Given the description of an element on the screen output the (x, y) to click on. 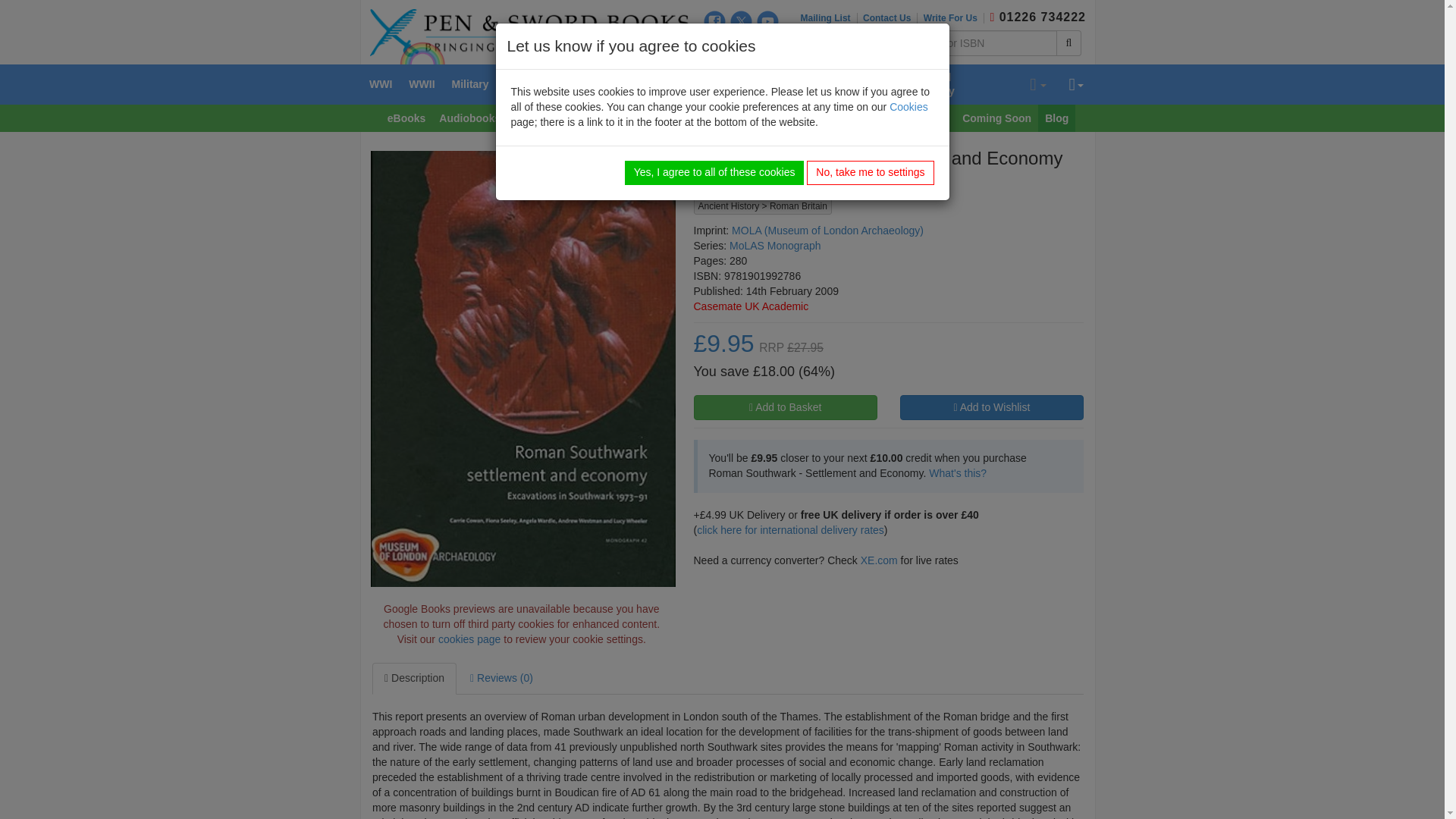
Your basket is empty (1037, 84)
Contact Us (890, 18)
Instagram (714, 45)
NetGalley (767, 45)
Write For Us (953, 18)
X (741, 21)
Pinterest (741, 45)
Facebook (714, 21)
Mailing List (828, 18)
YouTube (767, 21)
MoLAS Monograph (775, 245)
